Given the description of an element on the screen output the (x, y) to click on. 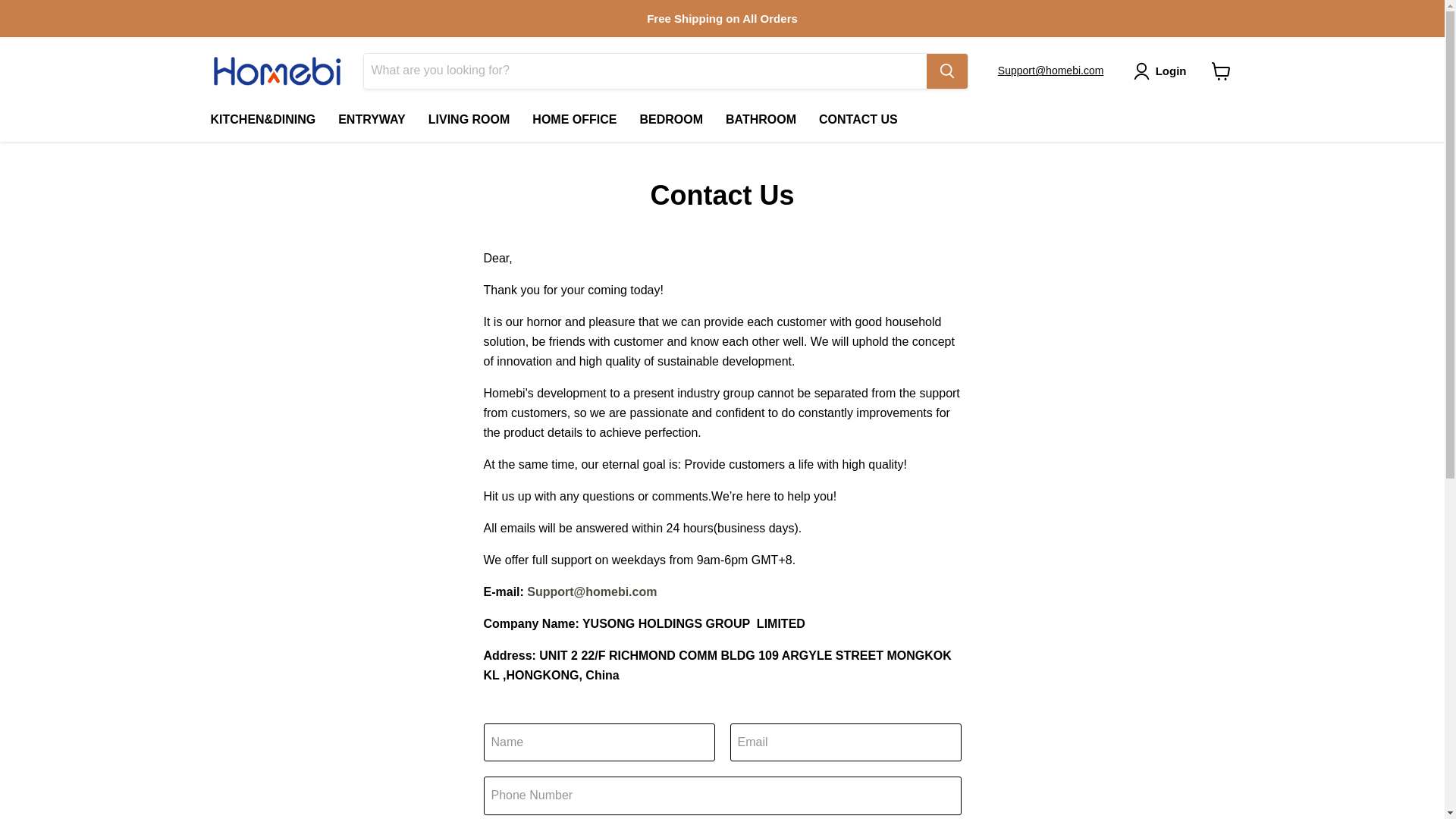
HOME OFFICE (574, 119)
Login (1171, 71)
CONTACT US (858, 119)
LIVING ROOM (468, 119)
BEDROOM (670, 119)
BATHROOM (761, 119)
ENTRYWAY (371, 119)
View cart (1221, 70)
